Given the description of an element on the screen output the (x, y) to click on. 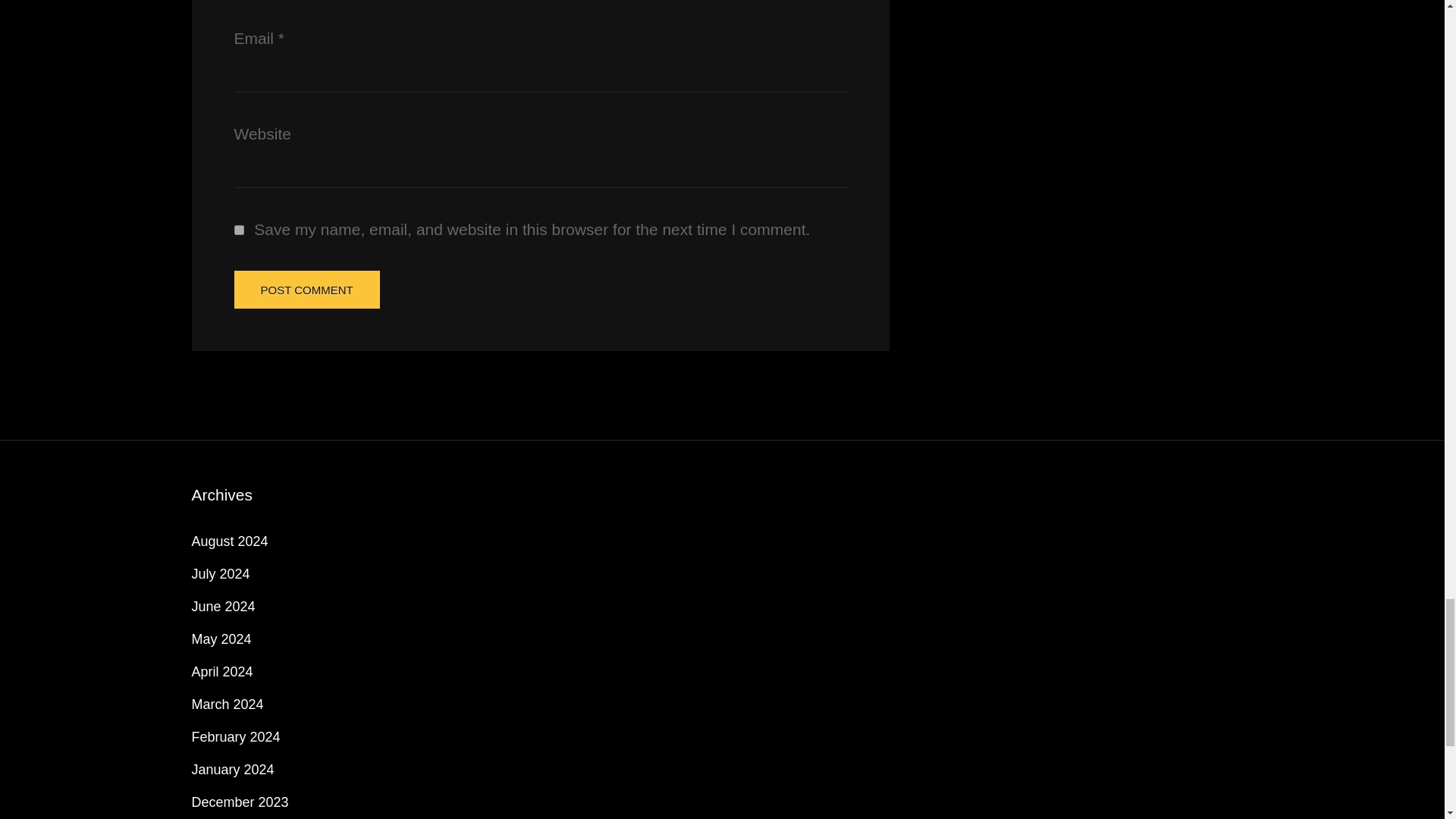
May 2024 (220, 639)
July 2024 (219, 573)
April 2024 (220, 671)
yes (237, 230)
June 2024 (222, 606)
Post Comment (305, 289)
Post Comment (305, 289)
March 2024 (226, 703)
August 2024 (228, 540)
